Given the description of an element on the screen output the (x, y) to click on. 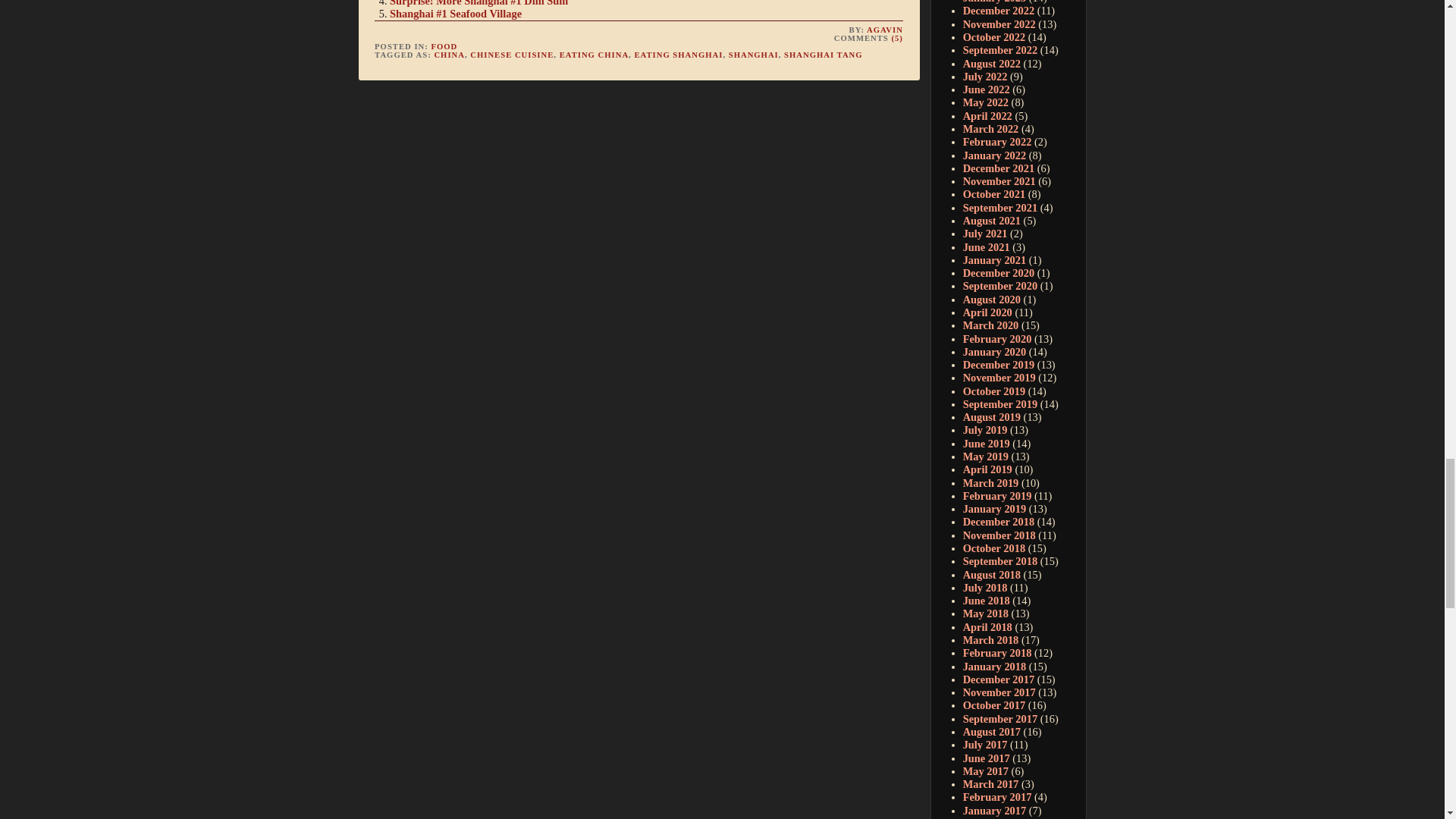
agavin (884, 29)
